Given the description of an element on the screen output the (x, y) to click on. 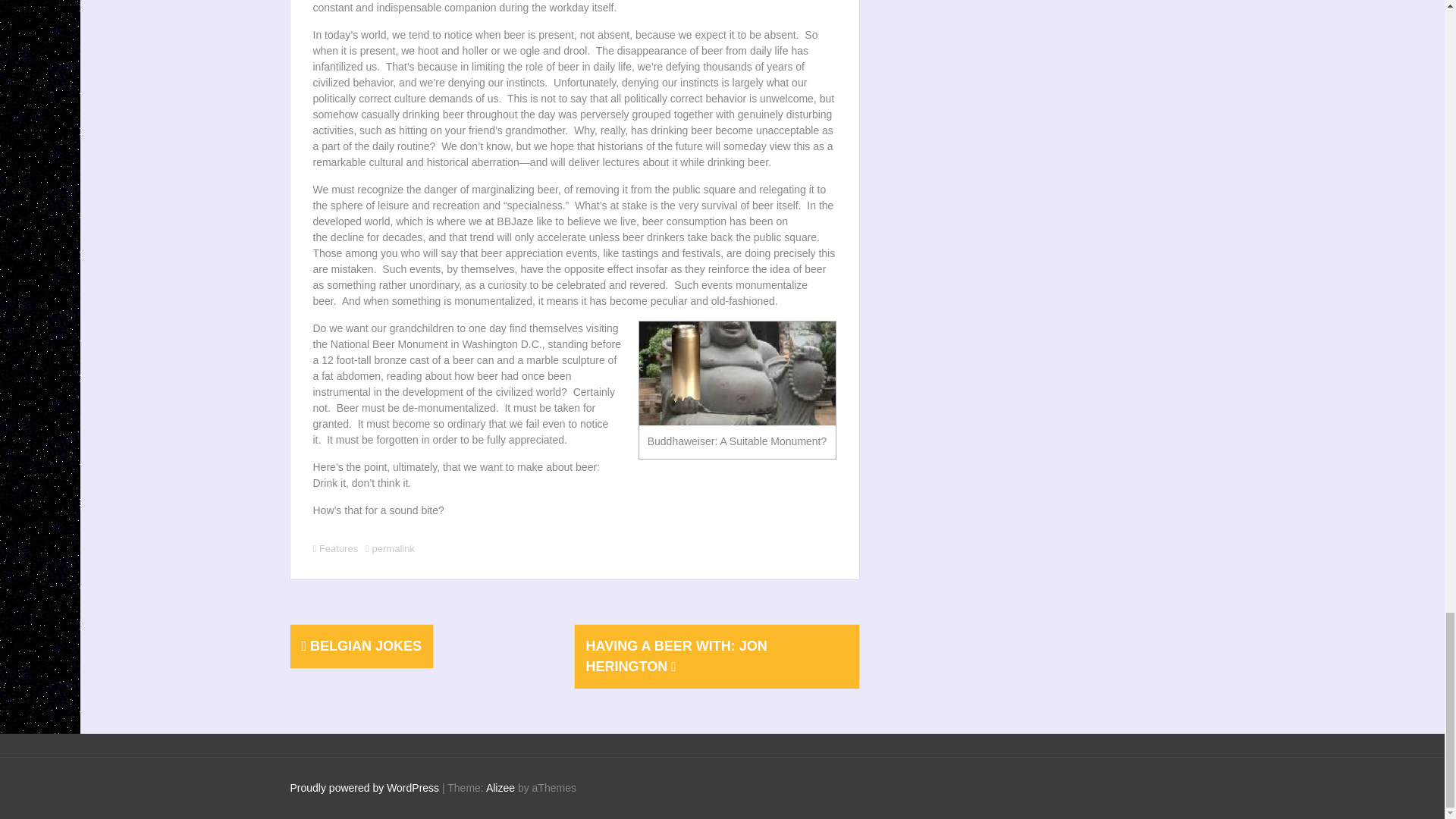
permalink (391, 548)
Alizee (500, 787)
Proudly powered by WordPress (364, 787)
Buddhaweiser (736, 373)
HAVING A BEER WITH: JON HERINGTON (676, 656)
Features (338, 548)
BELGIAN JOKES (361, 645)
